Given the description of an element on the screen output the (x, y) to click on. 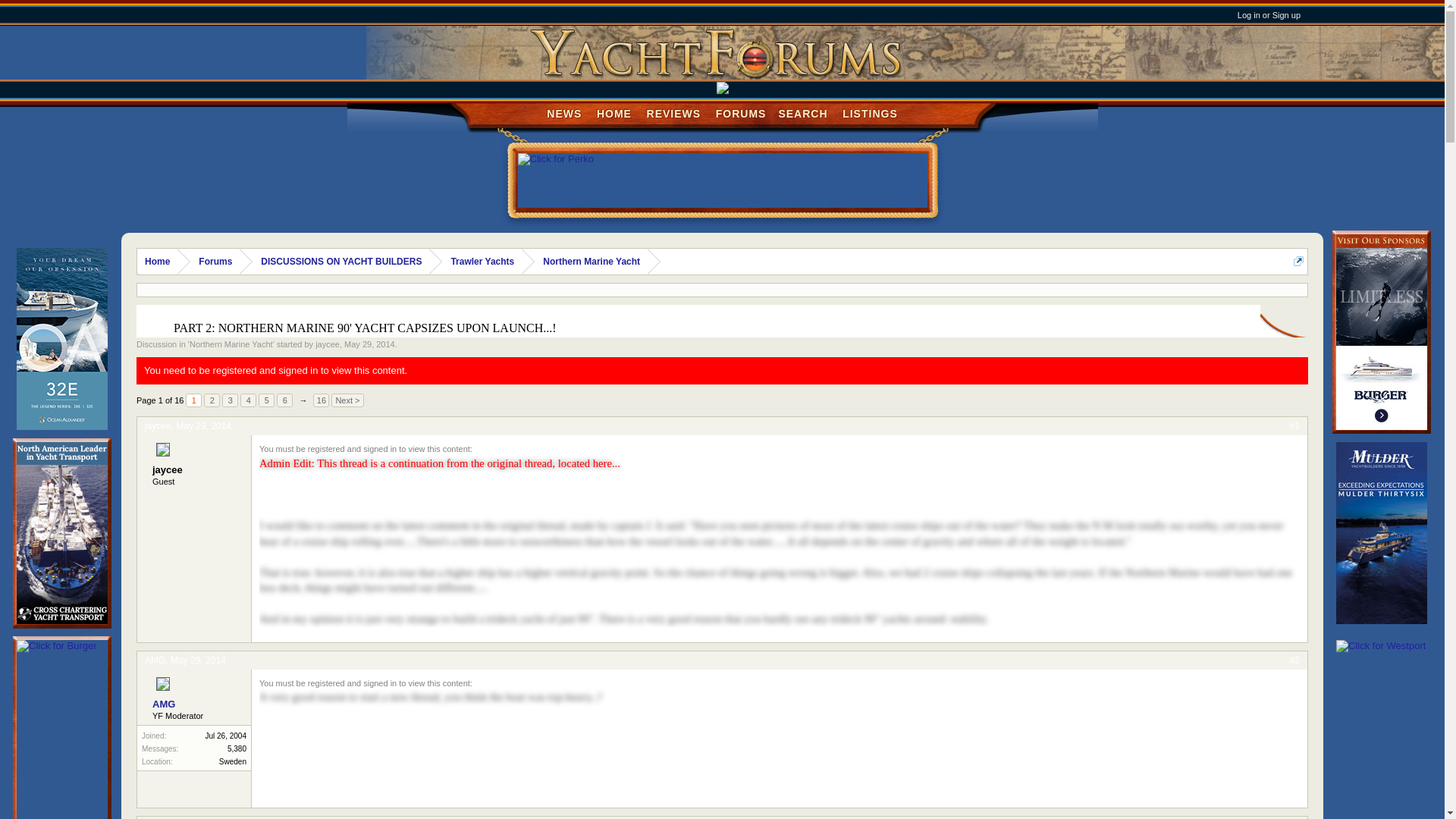
May 29, 2014 at 5:21 AM (368, 343)
Open quick navigation (1298, 261)
May 29, 2014 (247, 400)
Log in or Sign up (203, 425)
jaycee (1268, 14)
May 29, 2014 (327, 343)
Permalink (368, 343)
Permalink (1295, 425)
Click for Burger (203, 425)
